Given the description of an element on the screen output the (x, y) to click on. 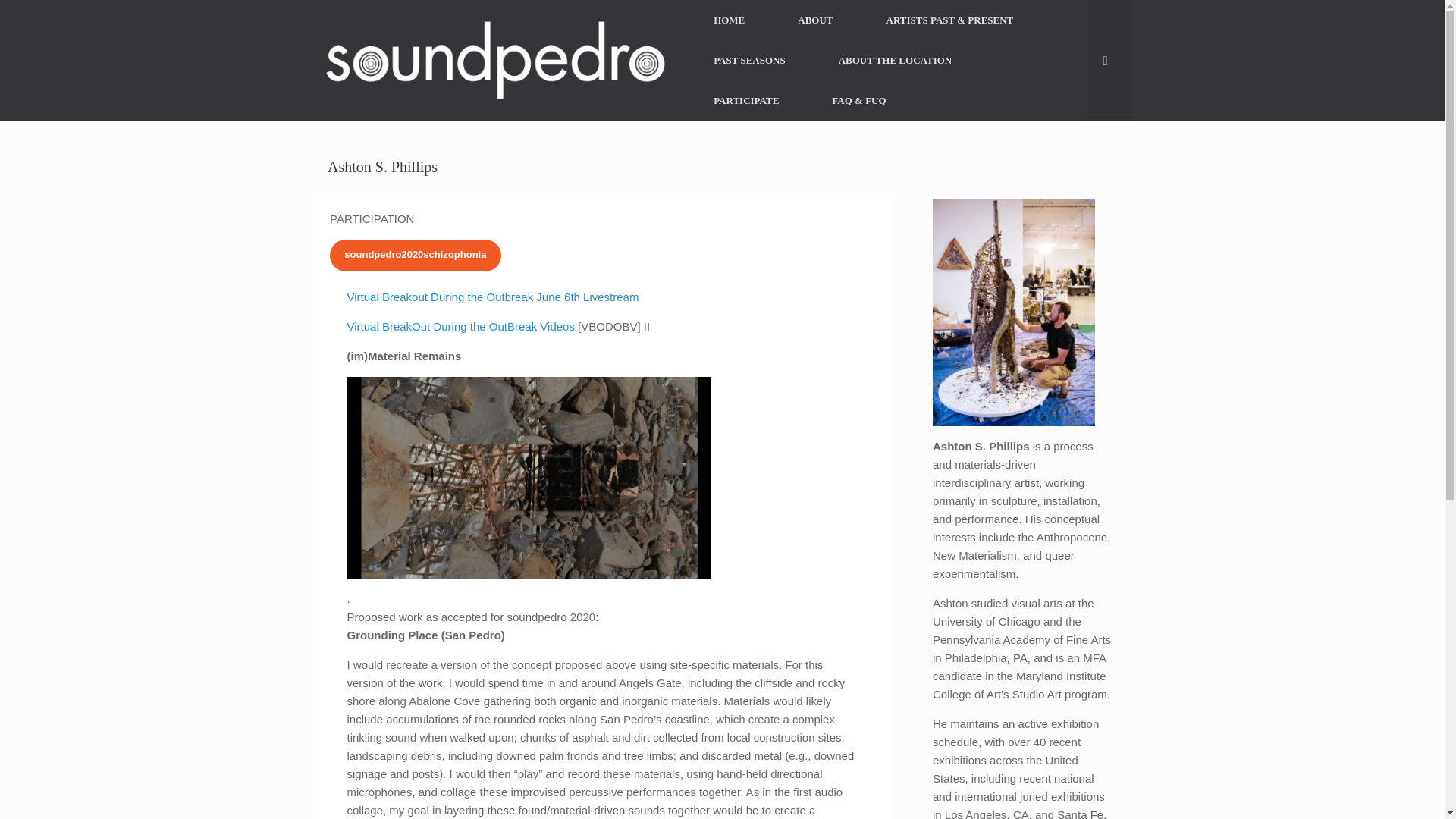
Virtual BreakOut During the OutBreak Videos (461, 326)
soundpedro2020schizophonia (415, 255)
HOME (729, 20)
ABOUT (815, 20)
soundpedro (494, 60)
PARTICIPATE (746, 100)
ABOUT THE LOCATION (895, 60)
Virtual Breakout During the Outbreak June 6th Livestream (493, 296)
PAST SEASONS (749, 60)
